Given the description of an element on the screen output the (x, y) to click on. 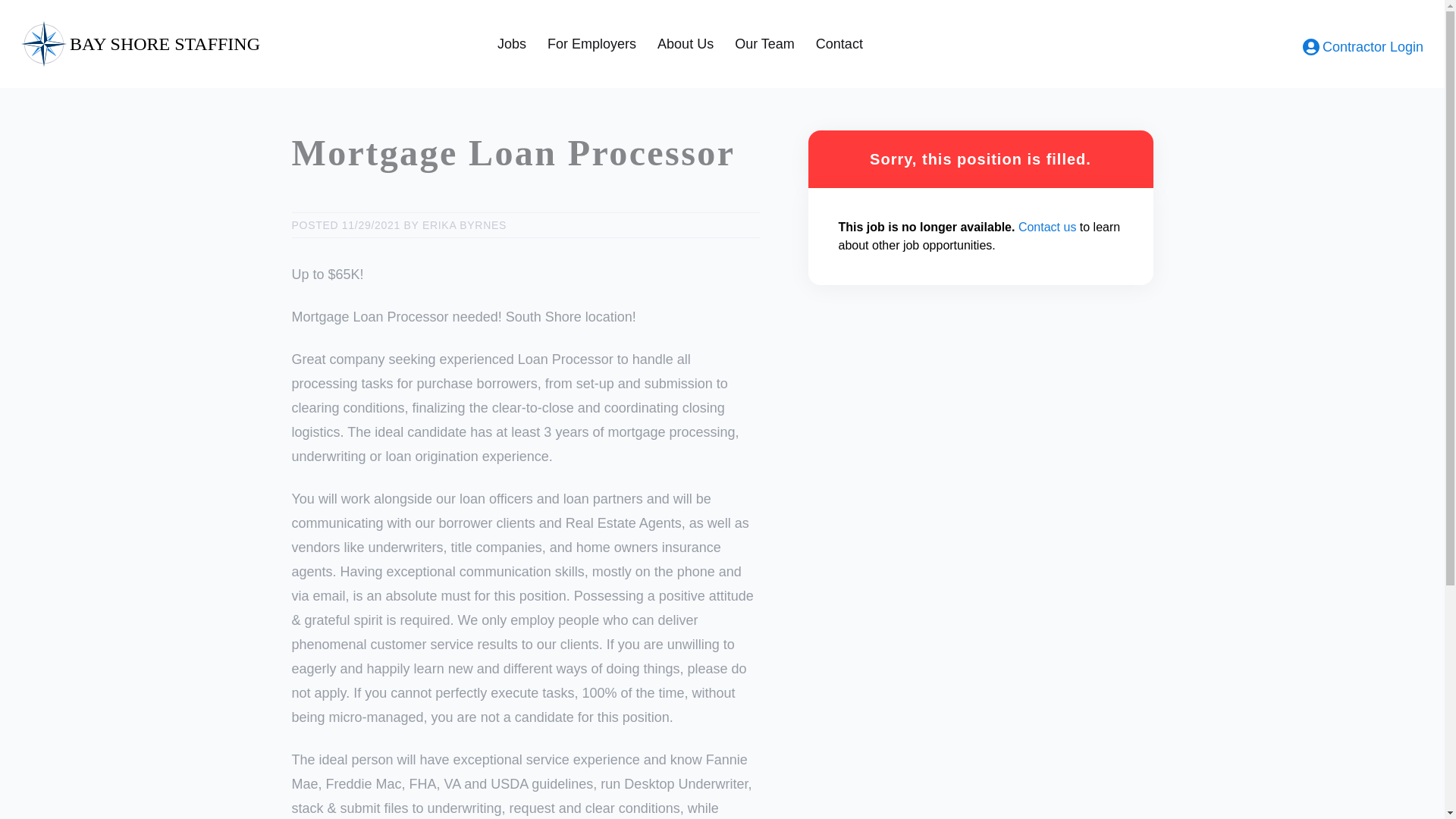
Contact (839, 43)
About Us (685, 43)
For Employers (591, 43)
Contact us (1046, 226)
Contractor Login (1363, 46)
Our Team (764, 43)
BAY SHORE STAFFING (241, 43)
